Given the description of an element on the screen output the (x, y) to click on. 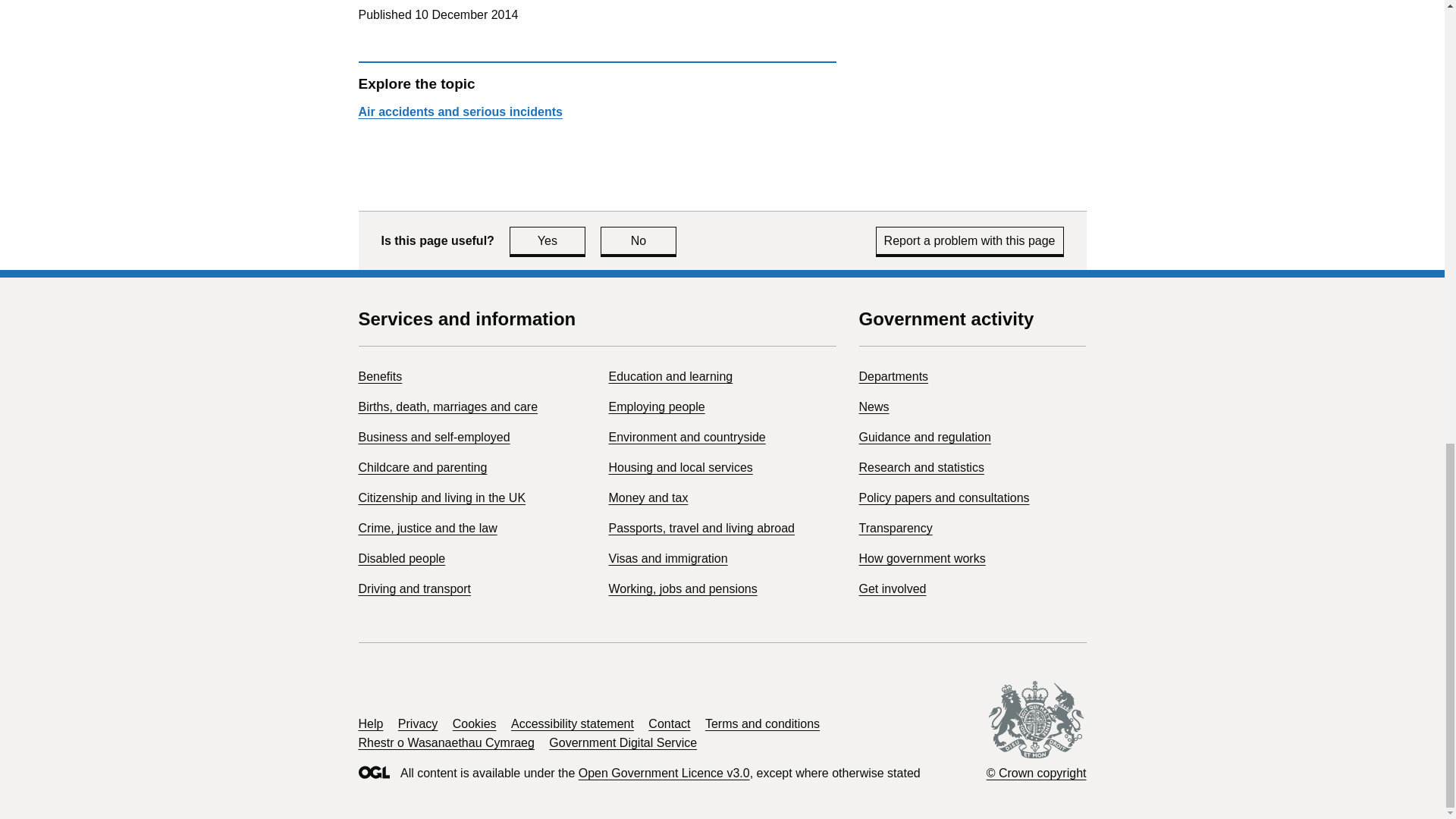
Report a problem with this page (970, 240)
Employing people (656, 406)
Housing and local services (680, 467)
Disabled people (547, 240)
Births, death, marriages and care (638, 240)
News (401, 558)
Education and learning (447, 406)
Working, jobs and pensions (873, 406)
